Given the description of an element on the screen output the (x, y) to click on. 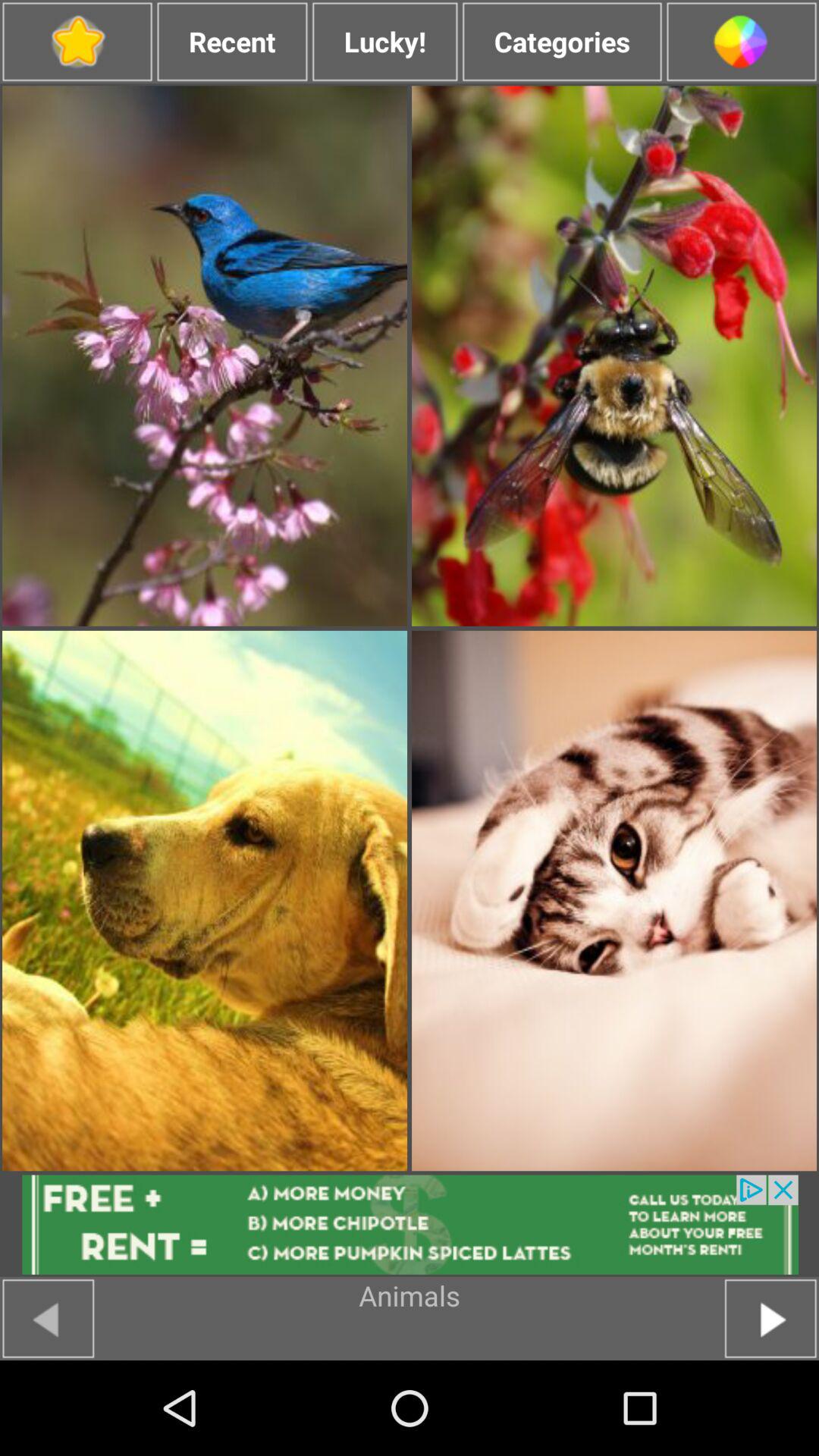
picture (613, 355)
